Given the description of an element on the screen output the (x, y) to click on. 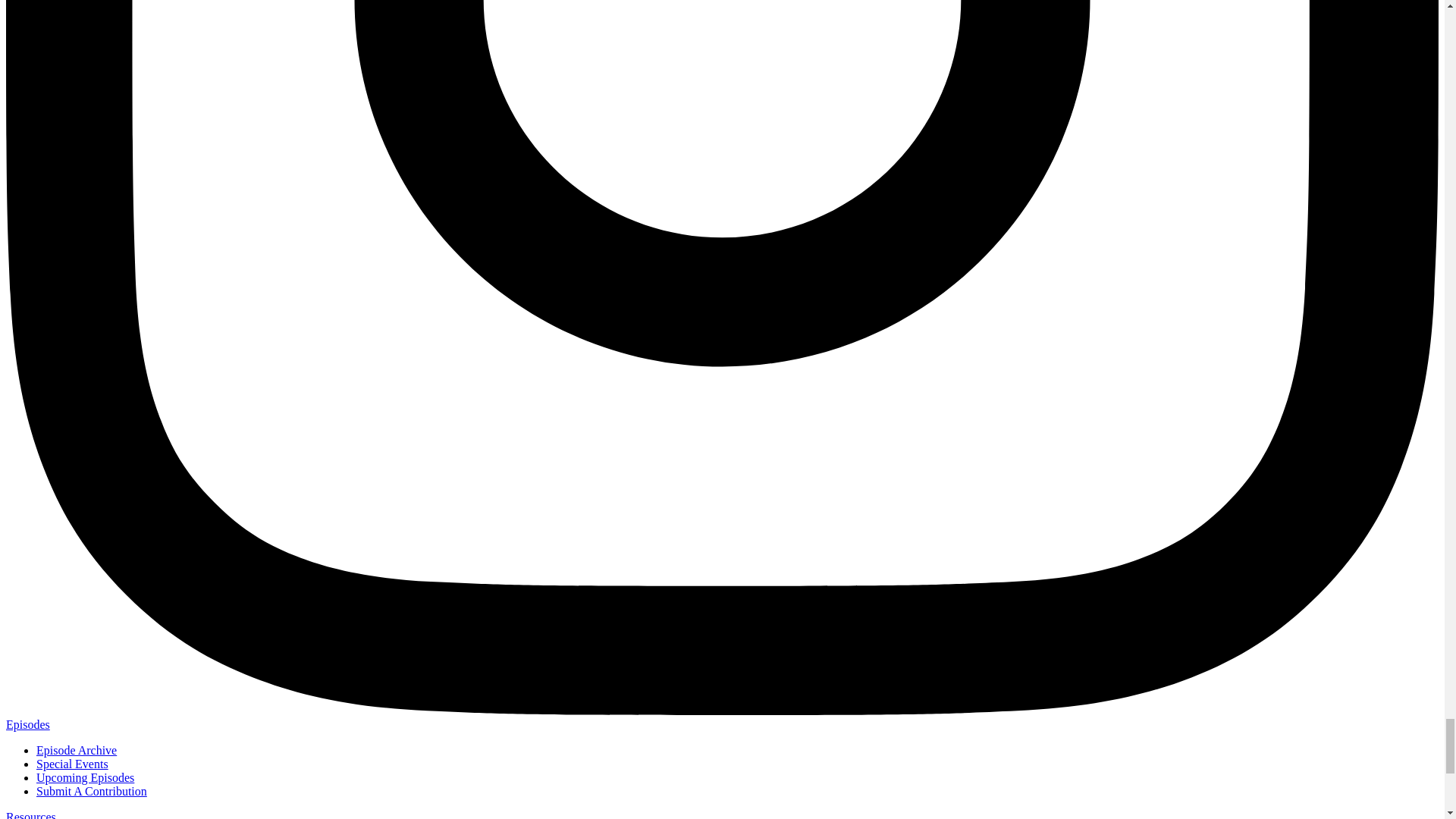
Episode Archive (76, 749)
Special Events (71, 763)
Resources (30, 814)
Episodes (27, 724)
Submit A Contribution (91, 790)
Upcoming Episodes (84, 777)
